Given the description of an element on the screen output the (x, y) to click on. 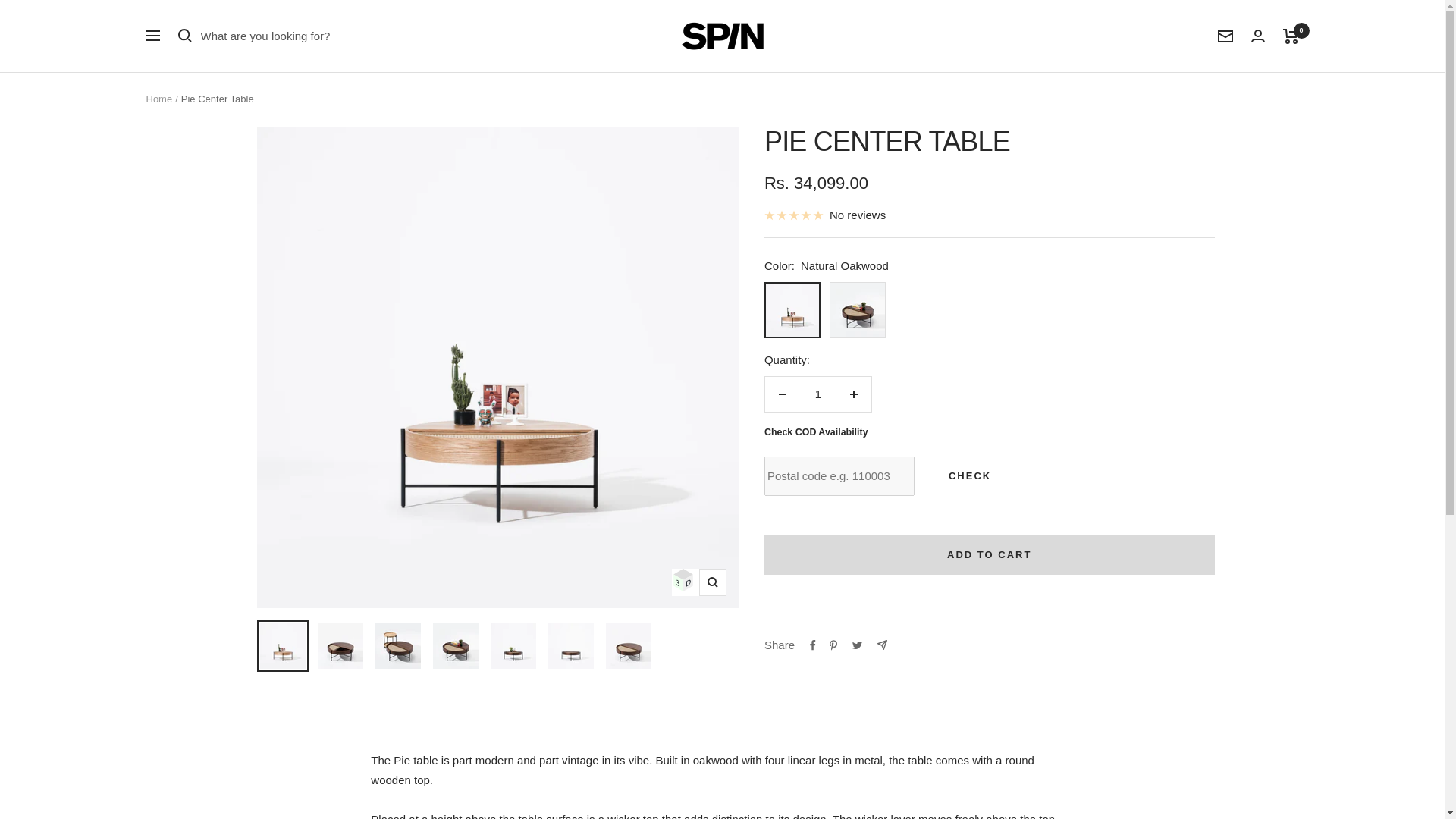
Newsletter (1225, 36)
SPIN (721, 35)
Navigation (151, 35)
0 (1290, 36)
1 (817, 393)
Zoom (712, 582)
Home (158, 98)
